Given the description of an element on the screen output the (x, y) to click on. 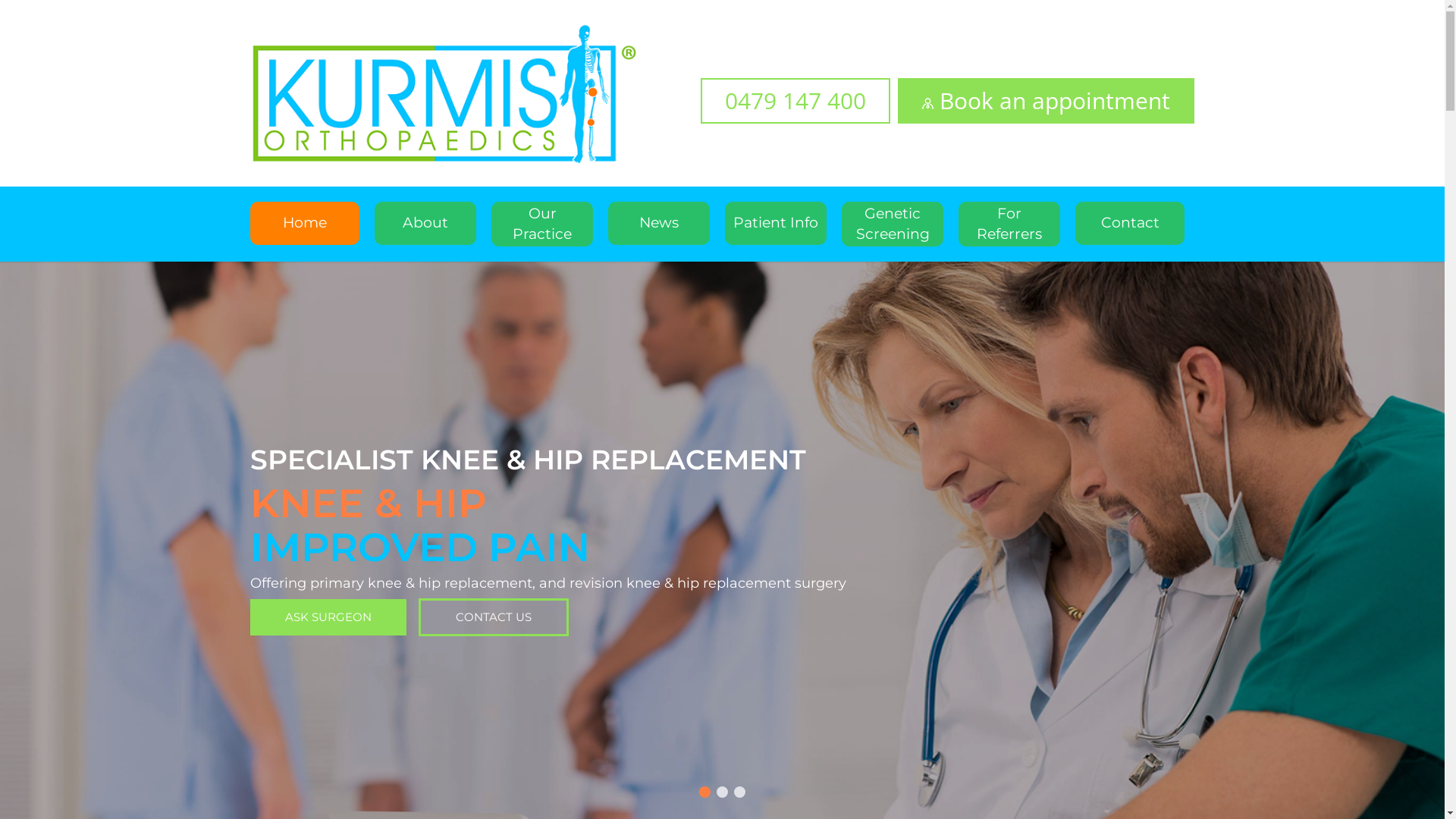
Contact Element type: text (1129, 222)
0479 147 400 Element type: text (795, 100)
CONTACT US Element type: text (493, 617)
For Referrers Element type: text (1009, 223)
Book an appointment Element type: text (1045, 100)
News Element type: text (658, 222)
Genetic Screening Element type: text (892, 223)
Patient Info Element type: text (775, 222)
Our Practice Element type: text (542, 223)
ASK SURGEON Element type: text (328, 617)
About Element type: text (425, 222)
Home Element type: text (304, 222)
